Given the description of an element on the screen output the (x, y) to click on. 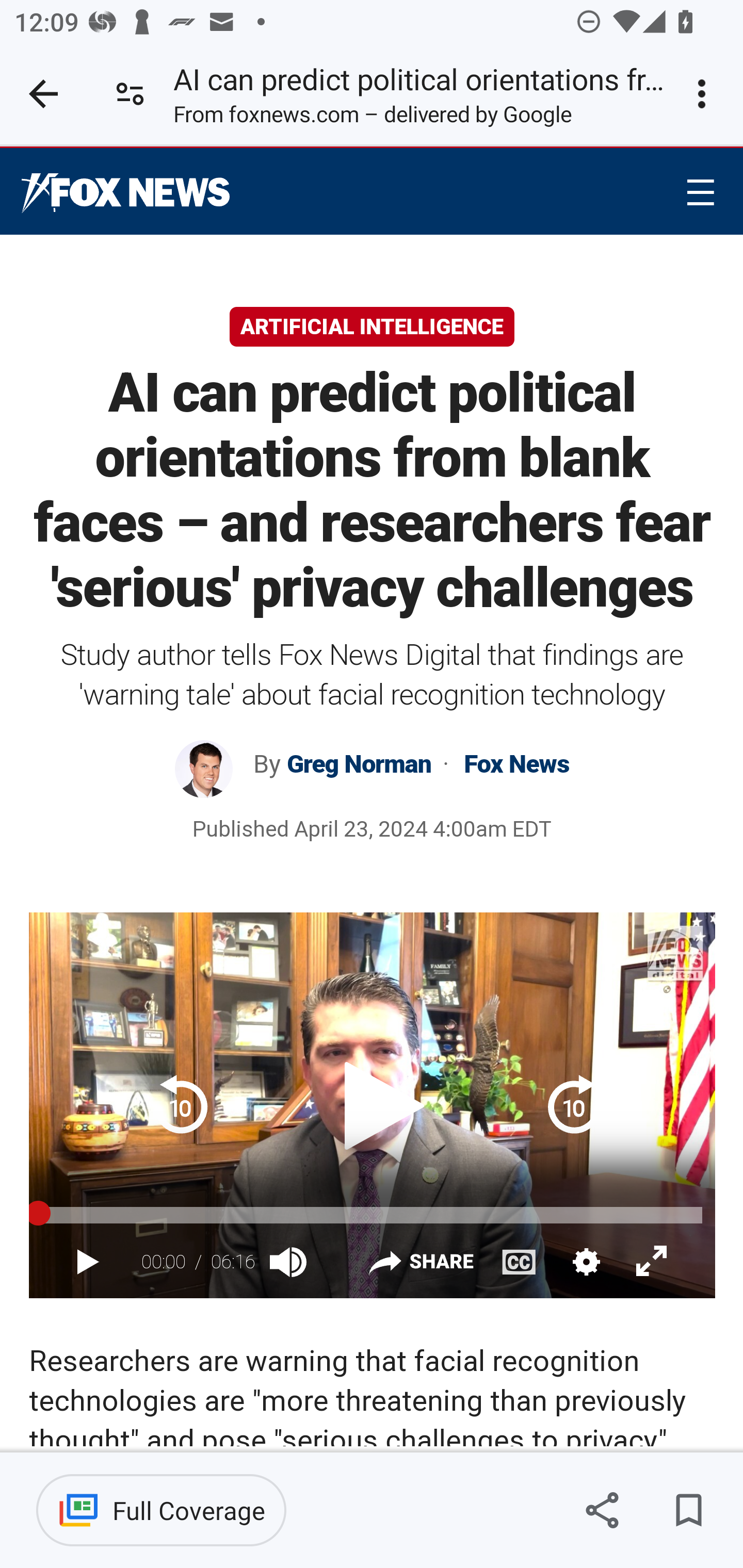
Close tab (43, 93)
Customize and control Google Chrome (705, 93)
Connection is secure (129, 93)
From foxnews.com – delivered by Google (372, 117)
☰ (700, 191)
Fox News (126, 193)
ARTIFICIAL INTELLIGENCE (371, 326)
Greg Norman  (361, 764)
 Fox News (513, 764)
Play (371, 1104)
Jump Back (183, 1104)
Jump Ahead (577, 1104)
00:00 of 06:16, Seek (371, 1214)
Closed Captioning (518, 1261)
Mute (290, 1260)
Toggle Fullscreen Mode (651, 1261)
Settings (585, 1261)
Play (88, 1262)
Share (420, 1265)
Full Coverage (161, 1509)
Share (601, 1510)
Save for later (688, 1510)
